Given the description of an element on the screen output the (x, y) to click on. 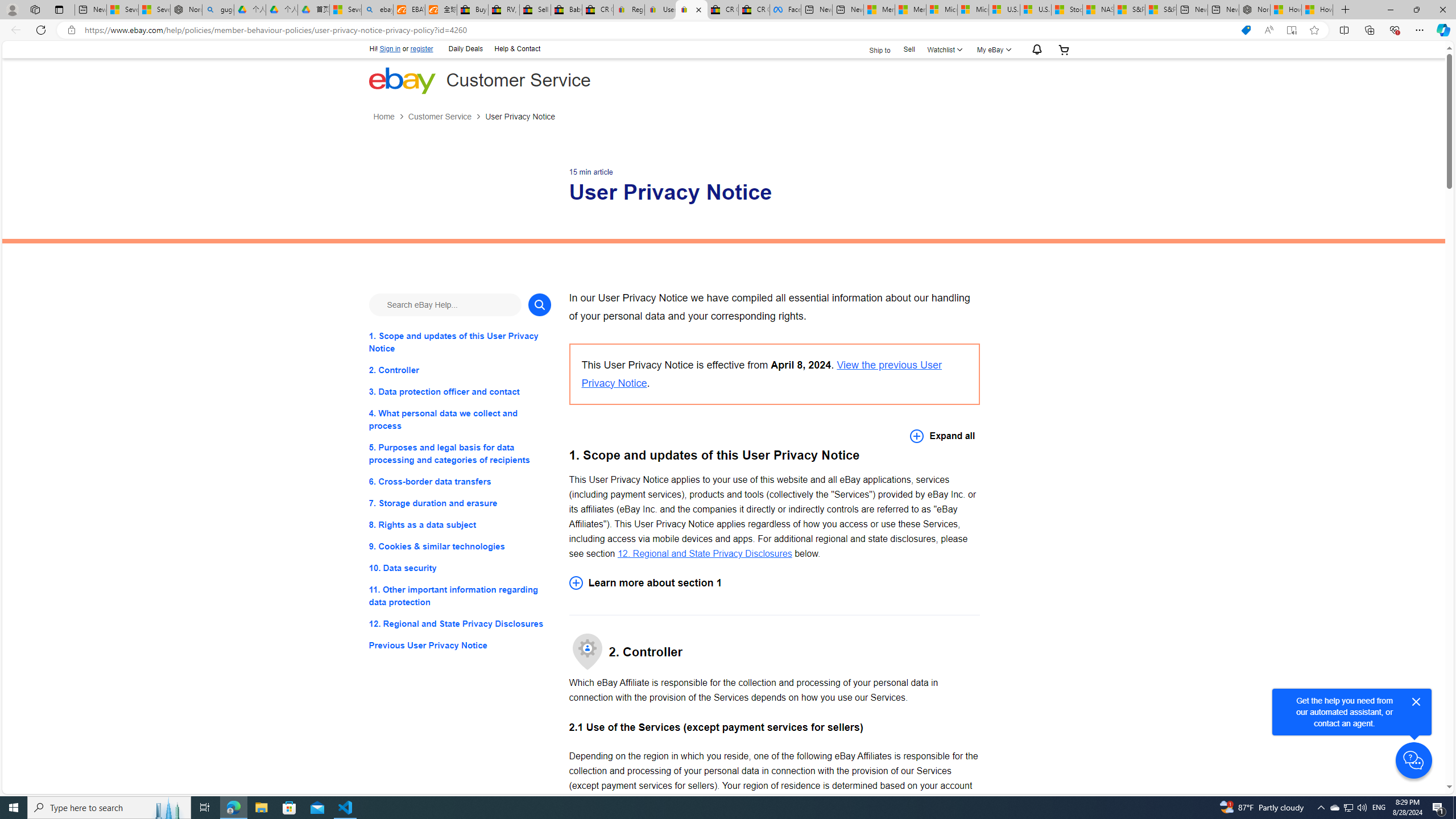
8. Rights as a data subject (459, 524)
